Given the description of an element on the screen output the (x, y) to click on. 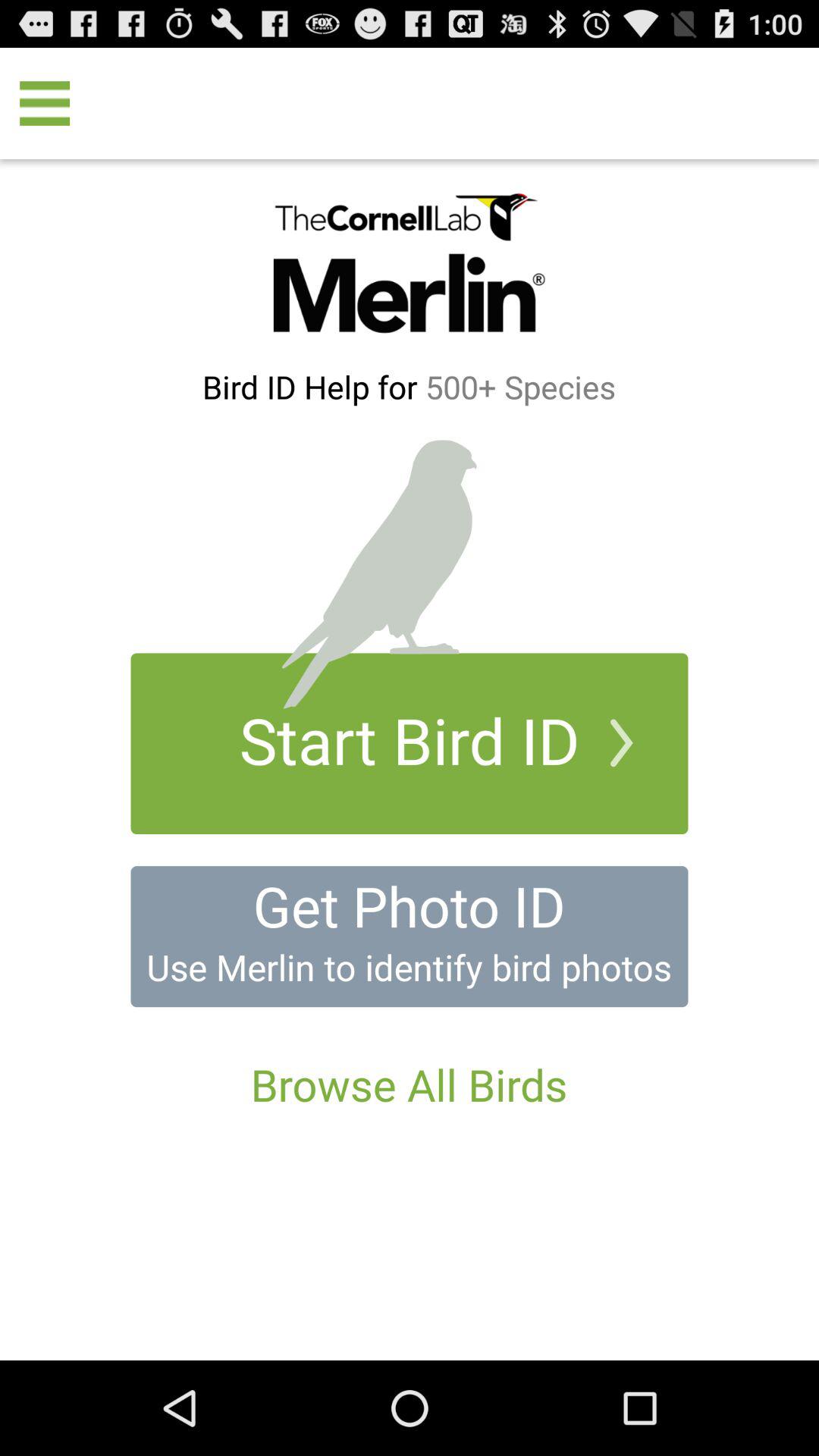
turn on the icon below get photo id item (408, 966)
